Given the description of an element on the screen output the (x, y) to click on. 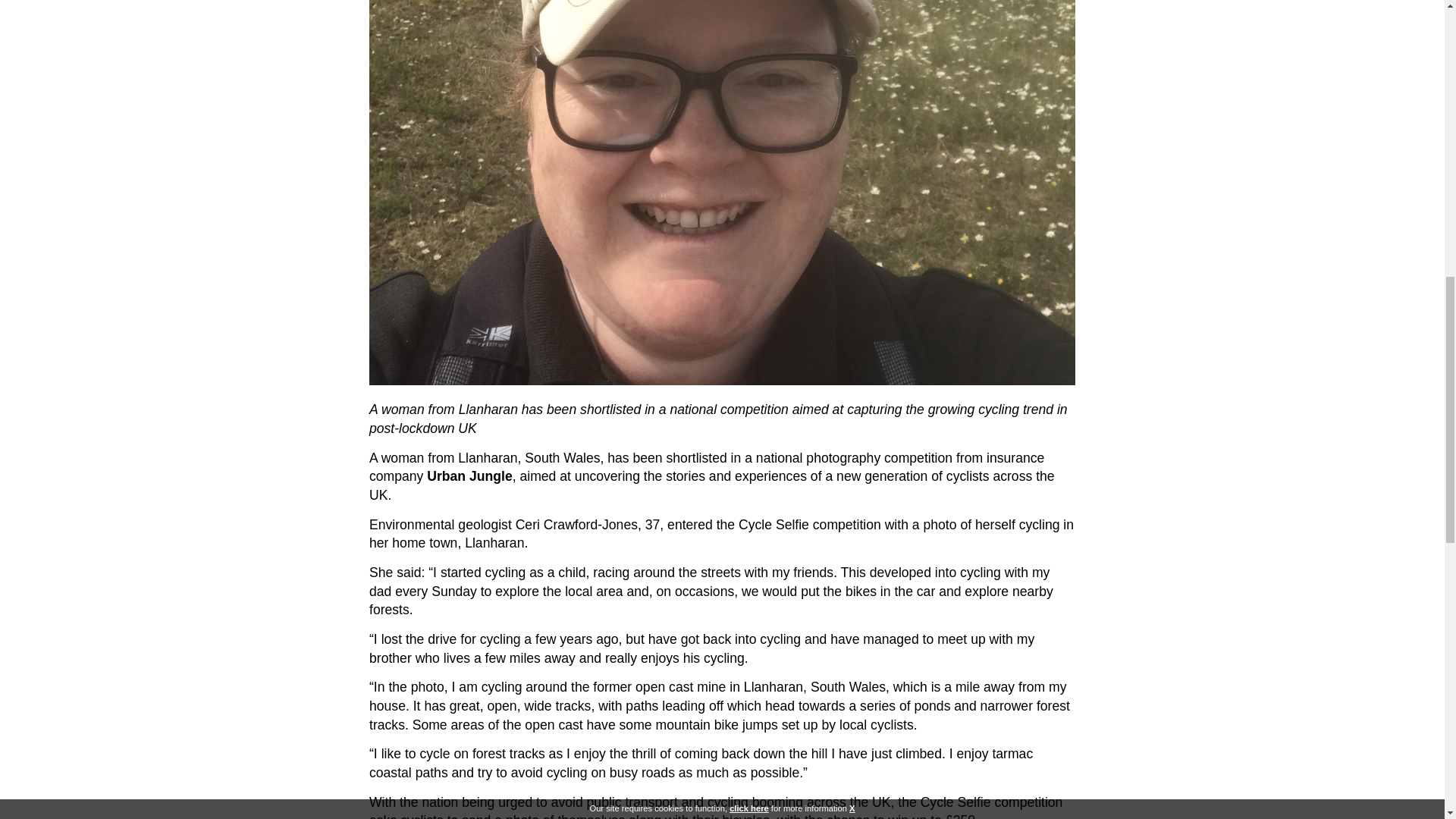
Urban Jungle (469, 476)
